Given the description of an element on the screen output the (x, y) to click on. 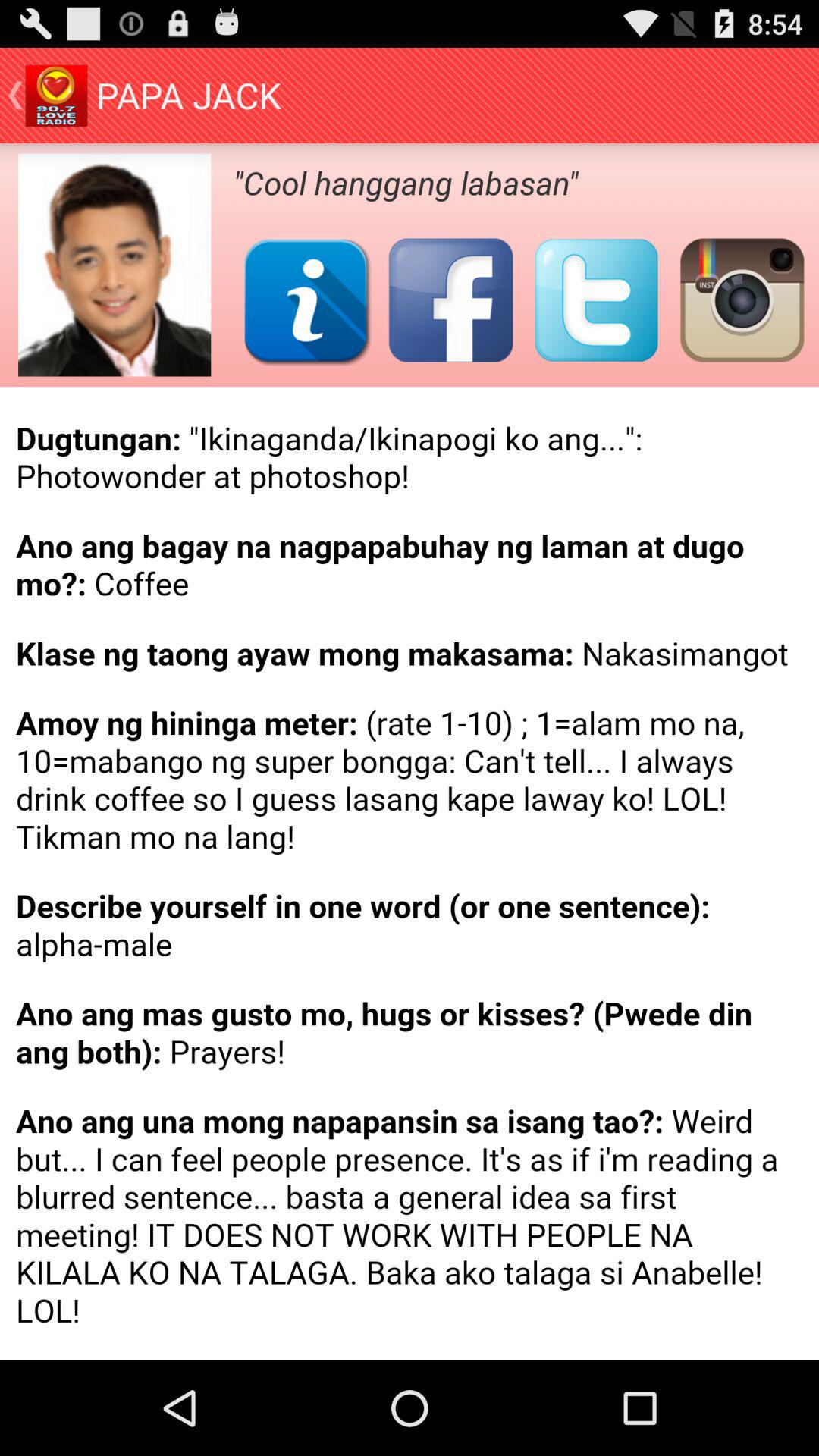
share on twitter button (596, 299)
